Given the description of an element on the screen output the (x, y) to click on. 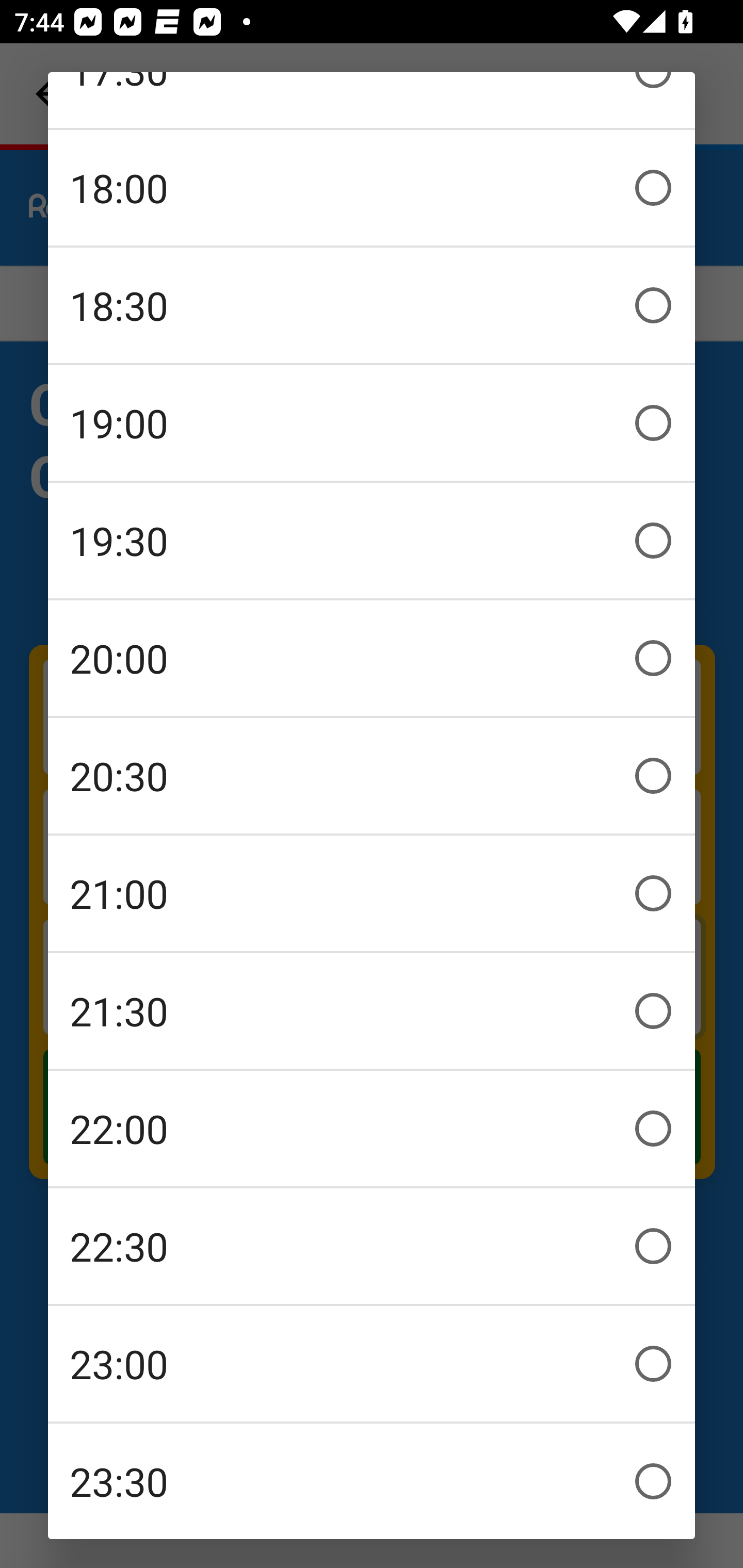
18:00 (371, 188)
18:30 (371, 305)
19:00 (371, 423)
19:30 (371, 540)
20:00 (371, 658)
20:30 (371, 776)
21:00 (371, 893)
21:30 (371, 1011)
22:00 (371, 1128)
22:30 (371, 1246)
23:00 (371, 1364)
23:30 (371, 1481)
